Given the description of an element on the screen output the (x, y) to click on. 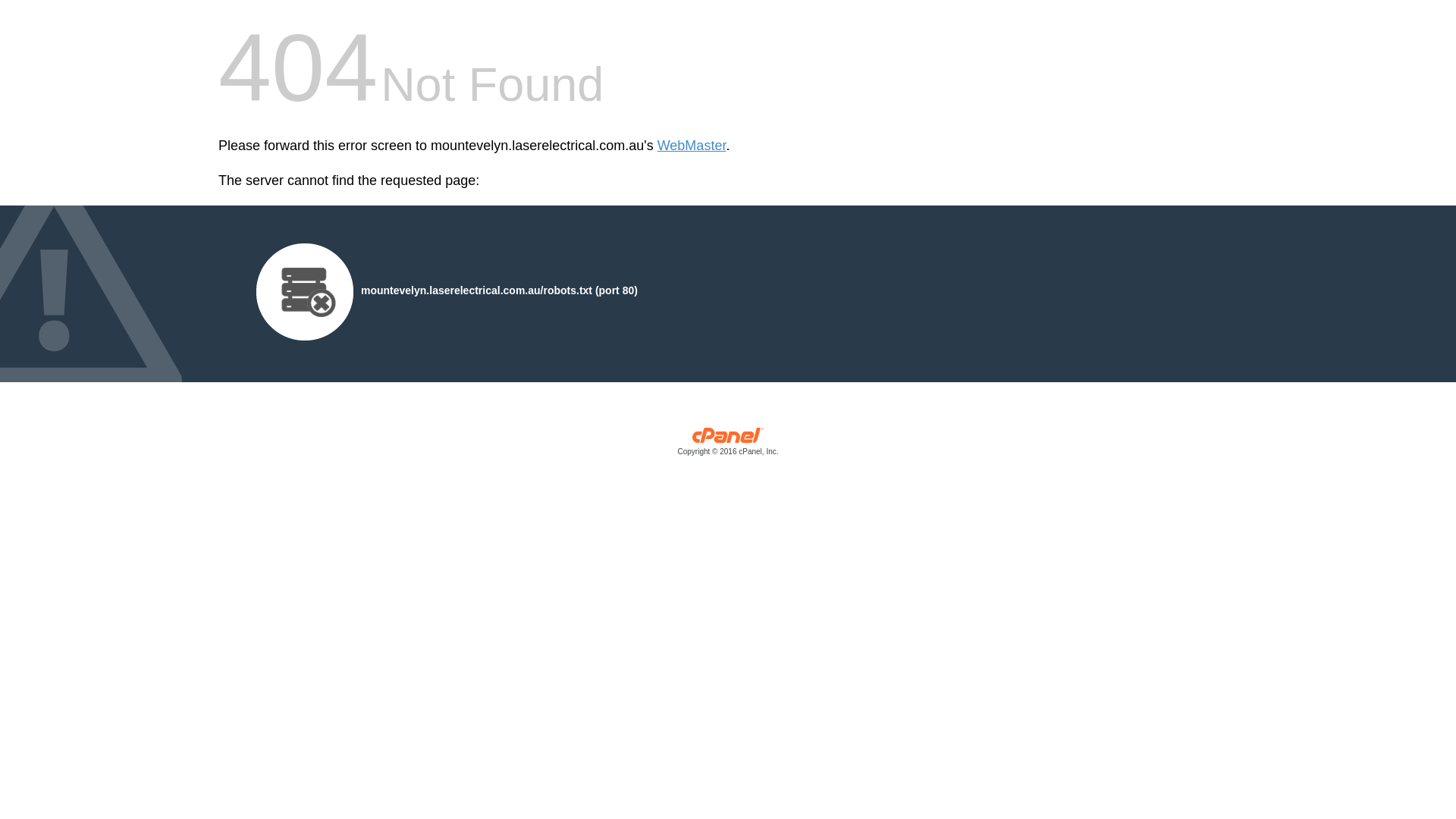
WebMaster Element type: text (691, 145)
